Given the description of an element on the screen output the (x, y) to click on. 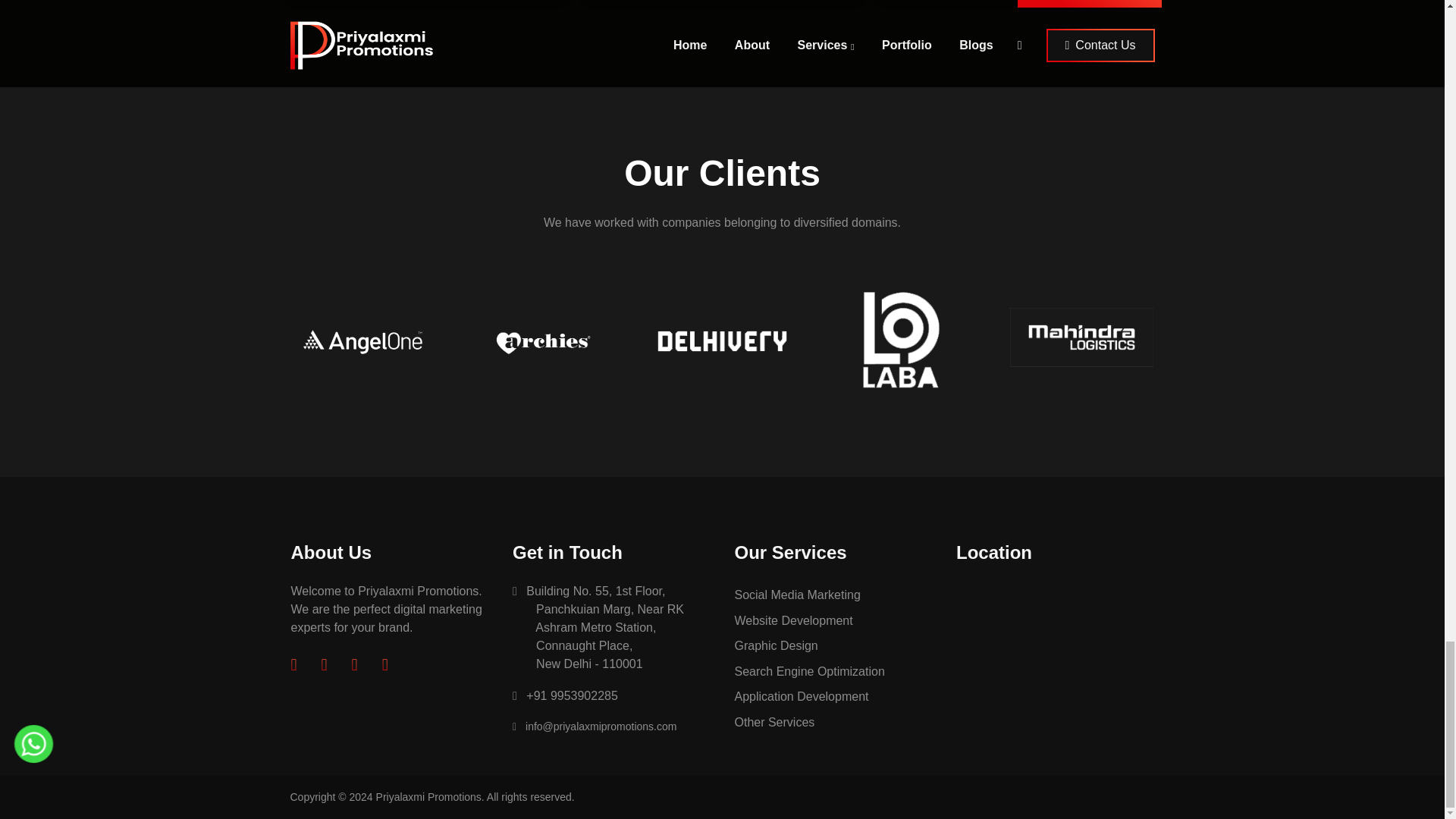
Application Development (832, 696)
Social Media Marketing (832, 595)
Graphic Design (832, 646)
Search Engine Optimization (832, 671)
Other Services (832, 722)
Website Development (832, 620)
